Given the description of an element on the screen output the (x, y) to click on. 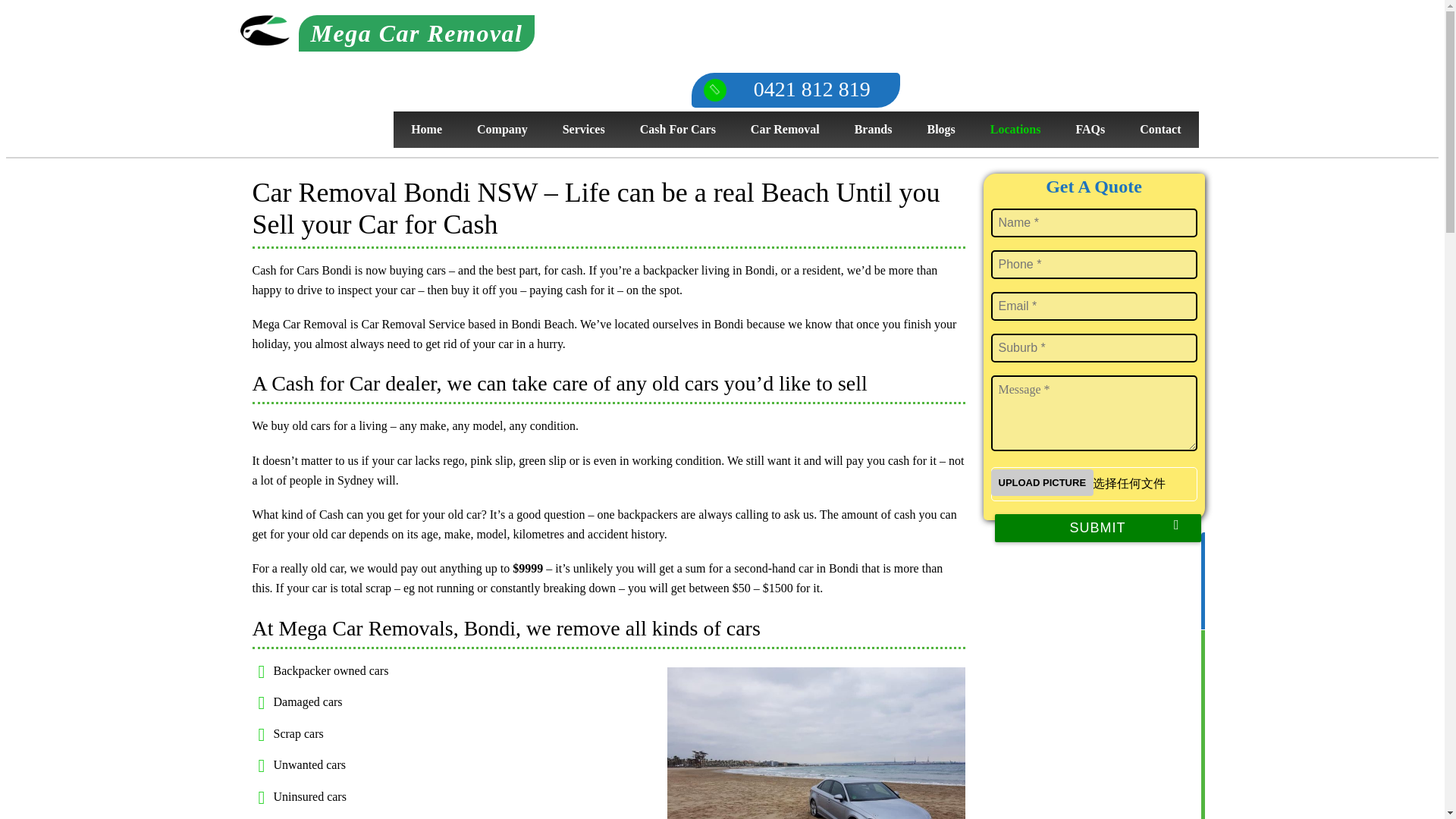
Submit (1097, 528)
Home (426, 129)
Car Removal (784, 129)
Mega Car Removal (387, 33)
Services (583, 129)
Call Us (795, 89)
Company (502, 129)
Brands (873, 129)
0421 812 819 (795, 89)
Mega Car Removal Sydney (387, 33)
Cash For Cars (677, 129)
Car Removals Sydney (264, 30)
About Us (502, 129)
Services (583, 129)
Mega Car Removal (426, 129)
